Given the description of an element on the screen output the (x, y) to click on. 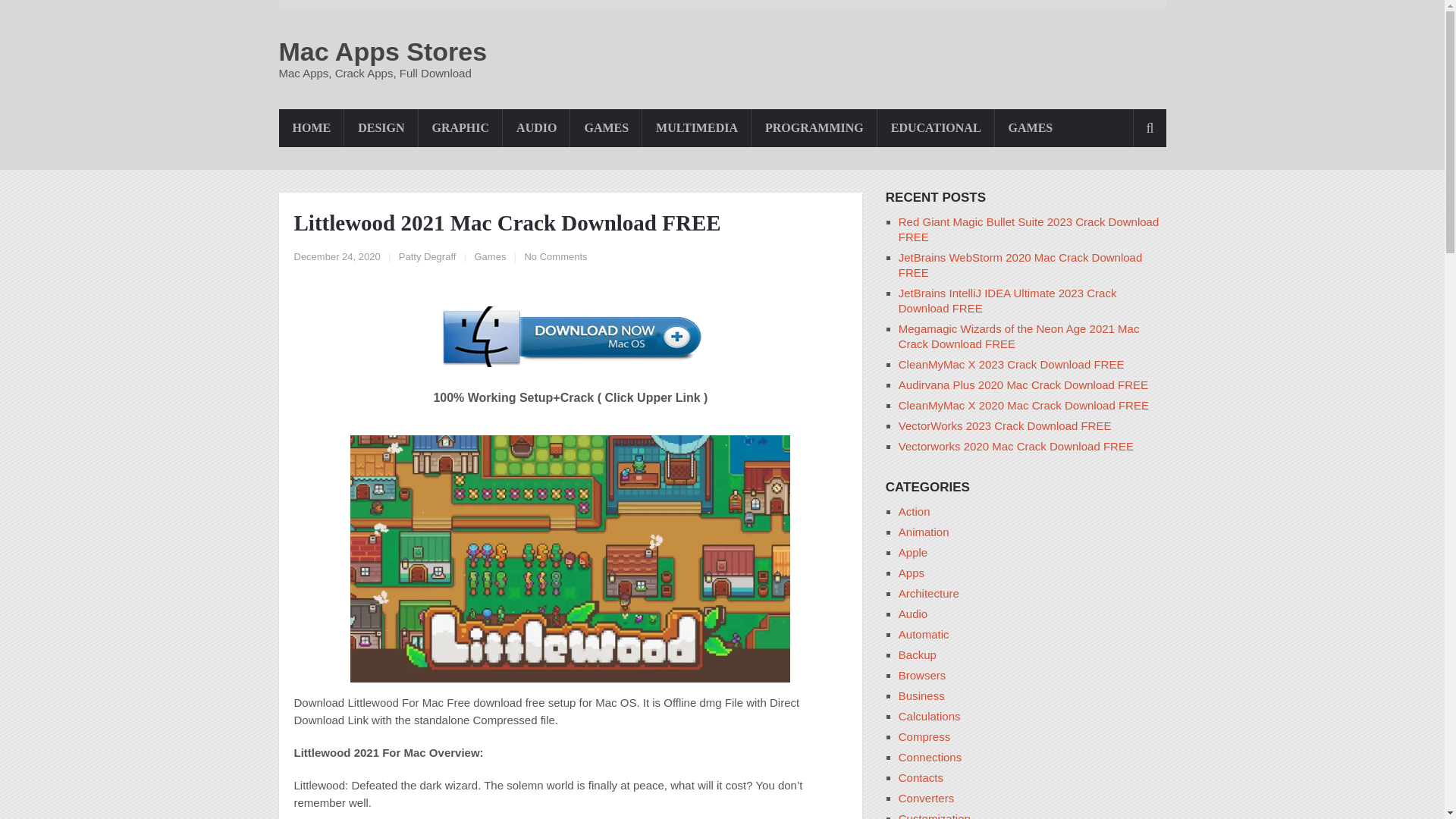
VectorWorks 2023 Crack Download FREE (1005, 425)
Animation (923, 531)
Posts by Patty Degraff (427, 256)
View all posts in Games (489, 256)
Games (489, 256)
Mac Apps Stores (383, 51)
HOME (312, 127)
PROGRAMMING (814, 127)
GAMES (606, 127)
EDUCATIONAL (935, 127)
Apps (911, 572)
JetBrains WebStorm 2020 Mac Crack Download FREE (1020, 264)
JetBrains IntelliJ IDEA Ultimate 2023 Crack Download FREE (1007, 300)
CleanMyMac X 2023 Crack Download FREE (1011, 364)
